Given the description of an element on the screen output the (x, y) to click on. 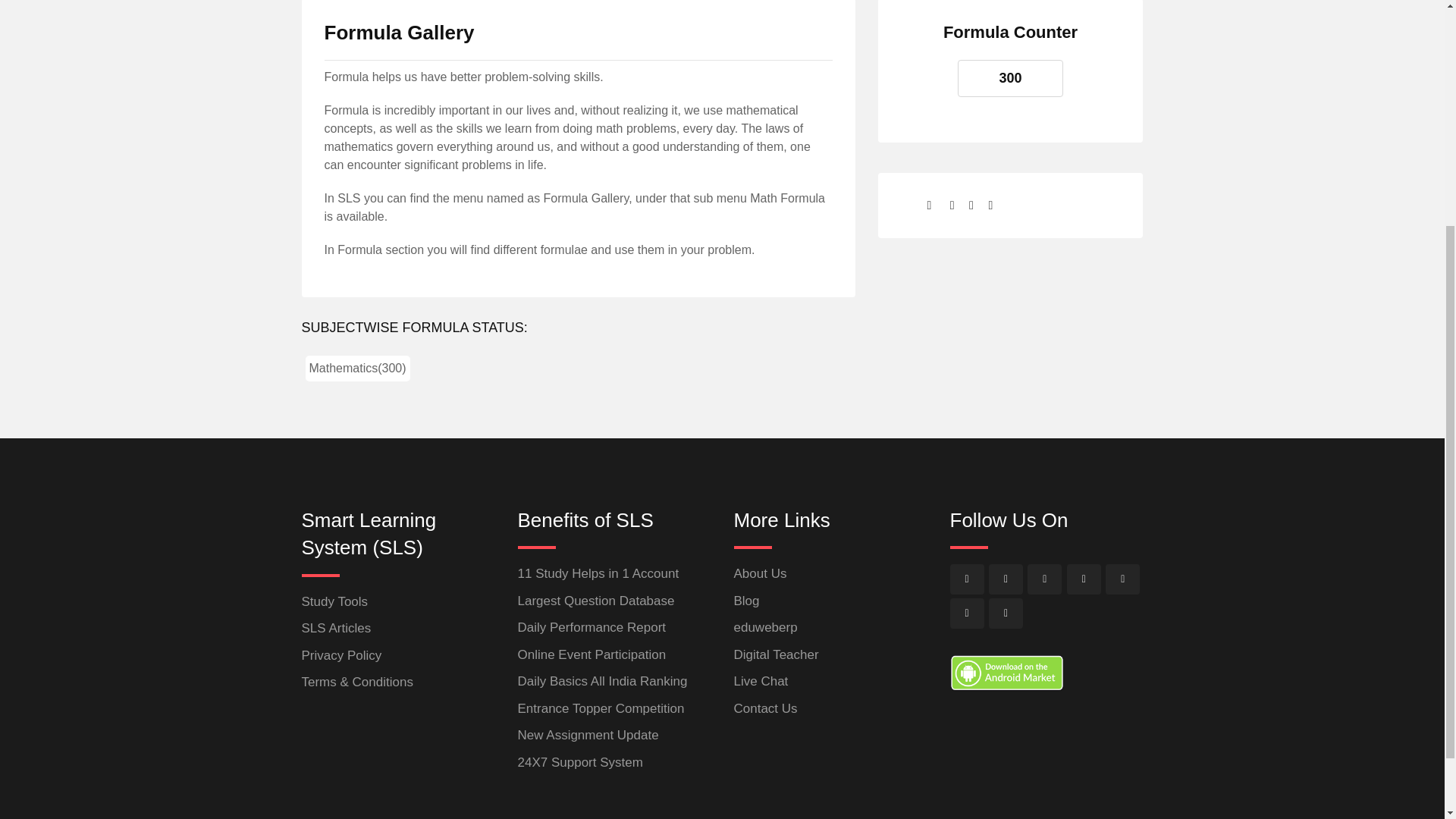
Online Event Participation (590, 654)
New Assignment Update (587, 735)
Privacy Policy (341, 655)
24X7 Support System (579, 762)
Entrance Topper Competition (600, 708)
Blog (746, 600)
About Us (760, 573)
Largest Question Database (595, 600)
Daily Basics All India Ranking (601, 681)
11 Study Helps in 1 Account (597, 573)
